Given the description of an element on the screen output the (x, y) to click on. 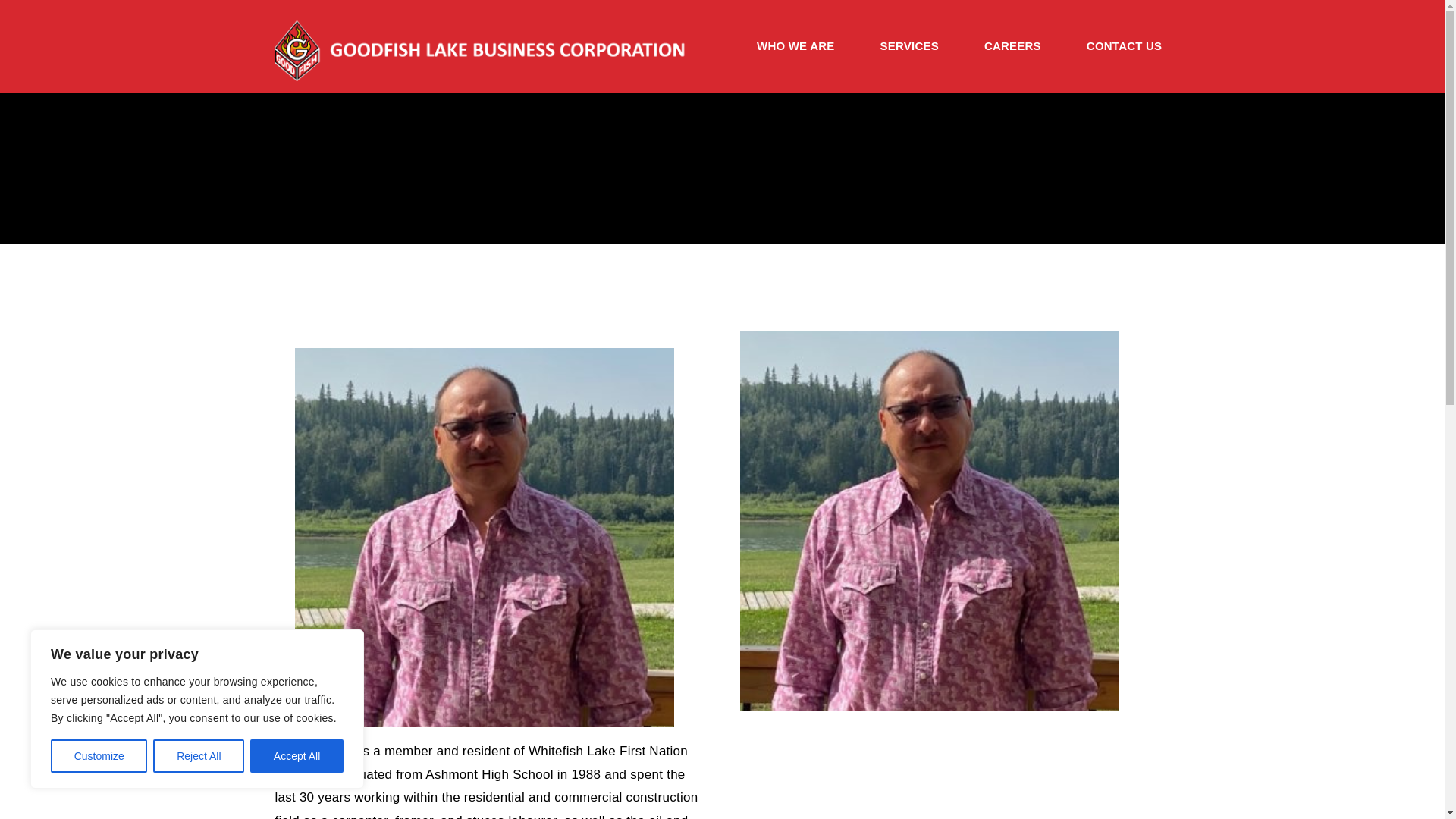
Customize (98, 756)
Reject All (198, 756)
WHO WE ARE (796, 46)
CAREERS (1012, 46)
CONTACT US (1123, 46)
SERVICES (909, 46)
Accept All (296, 756)
Toggle Sliding Bar (909, 46)
